Given the description of an element on the screen output the (x, y) to click on. 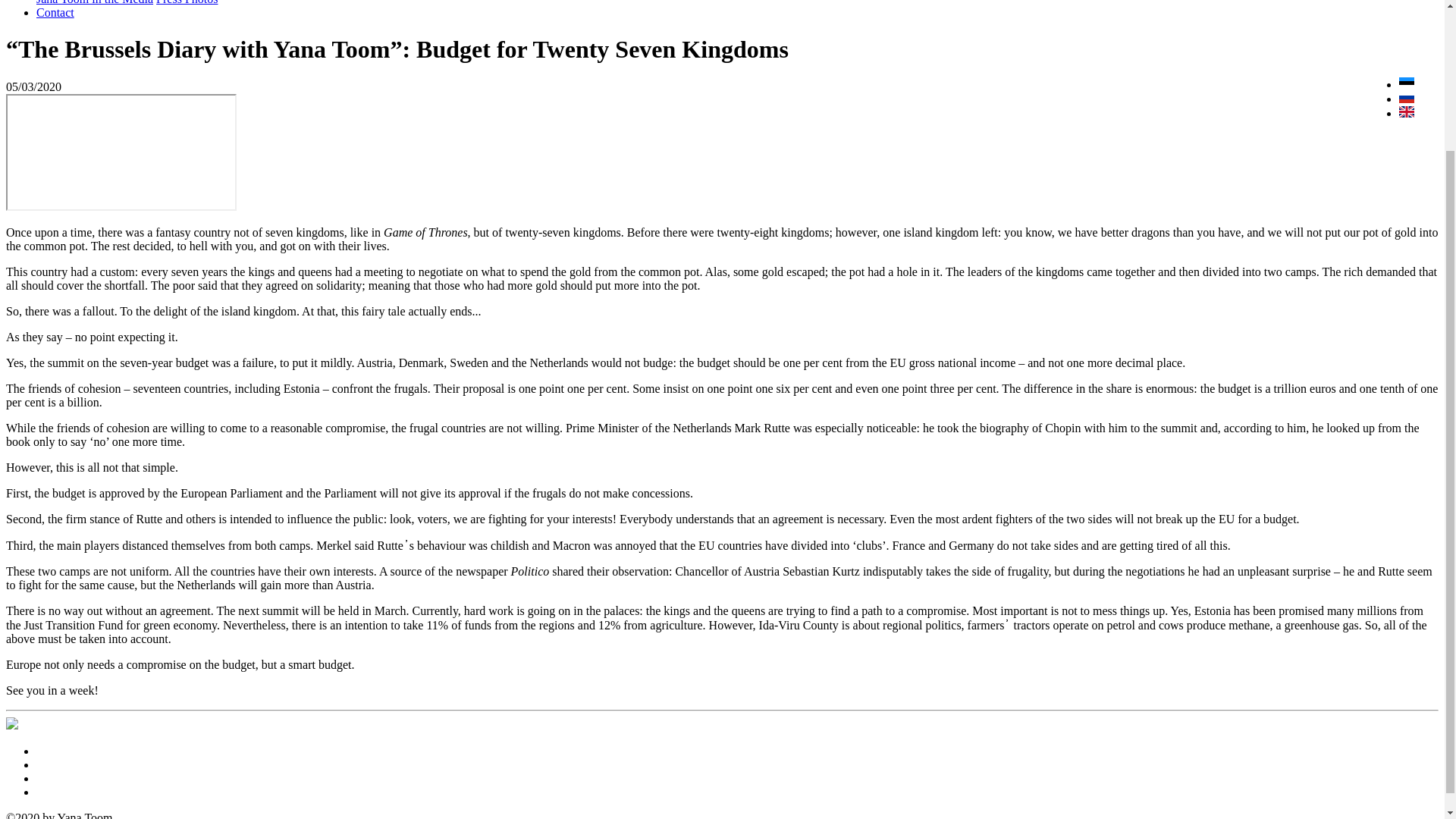
Contact (55, 11)
Press Photos (185, 2)
Jana Toom in the Media (94, 2)
